Given the description of an element on the screen output the (x, y) to click on. 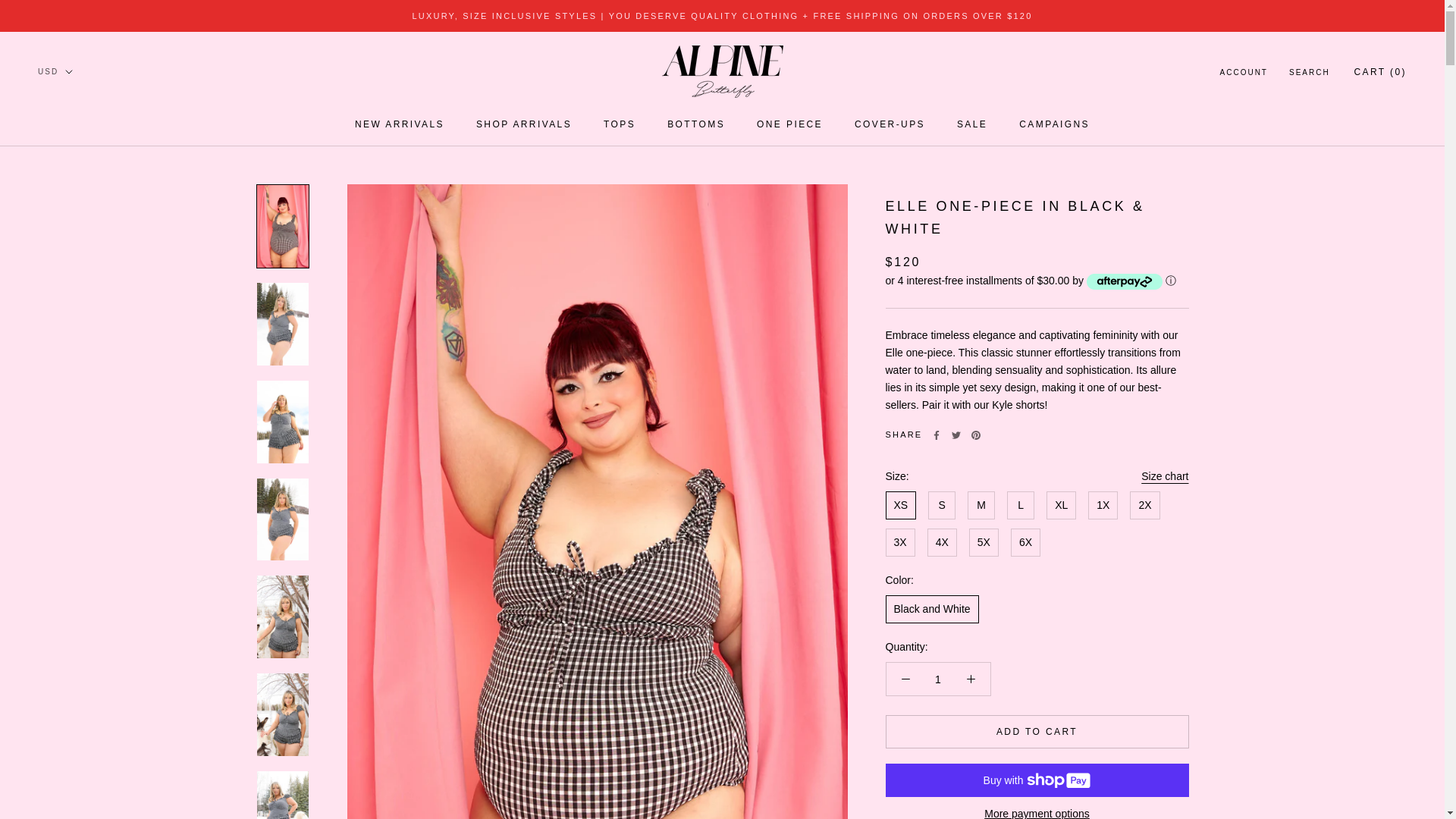
SHOP ARRIVALS (524, 123)
Currency selector (54, 71)
1 (399, 123)
